Given the description of an element on the screen output the (x, y) to click on. 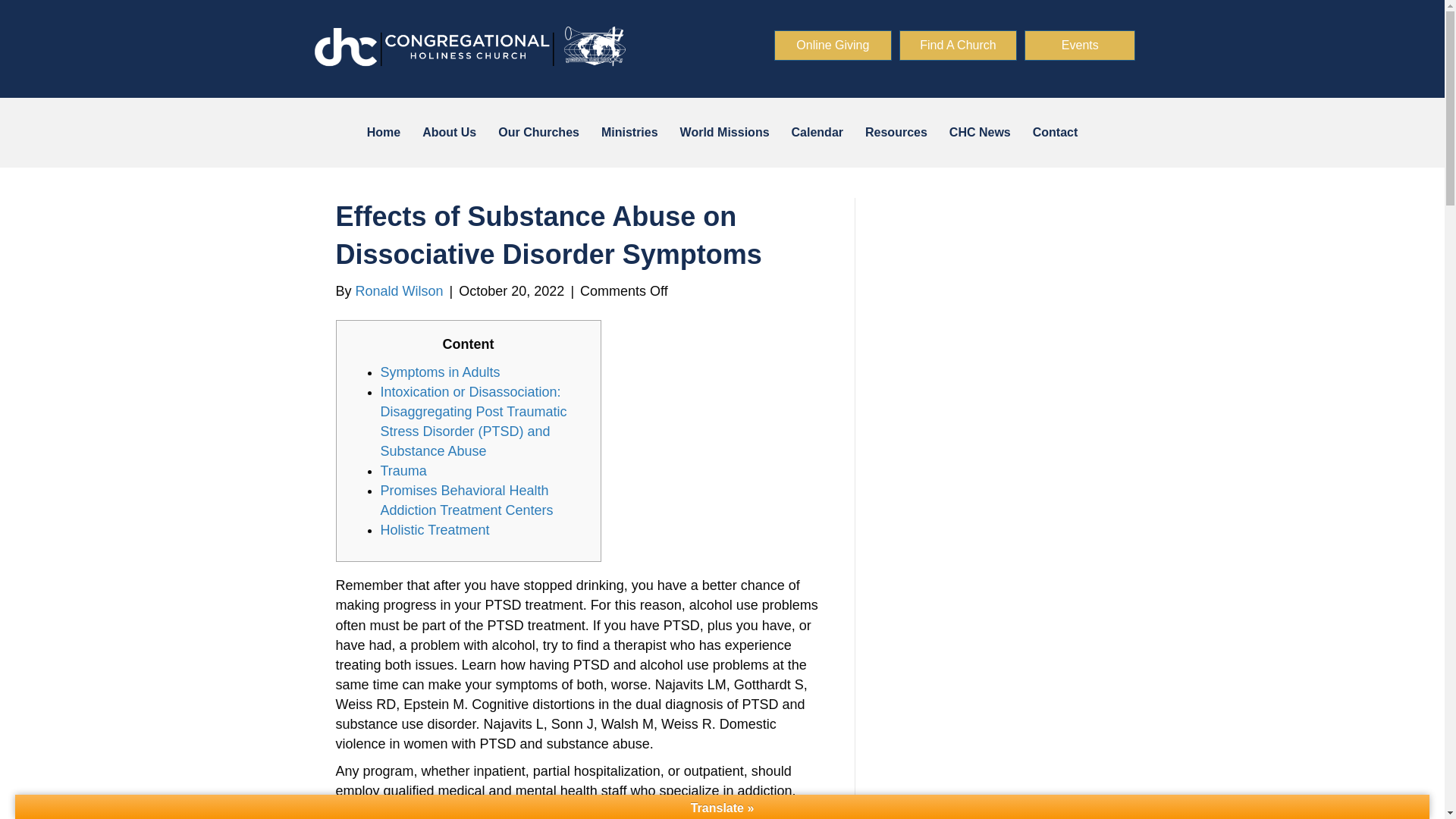
Home (383, 132)
World Missions (724, 132)
Ministries (629, 132)
Online Giving (832, 45)
Our Churches (538, 132)
Events (1080, 45)
Find A Church (957, 45)
Untitled design-10 (469, 48)
About Us (449, 132)
